Given the description of an element on the screen output the (x, y) to click on. 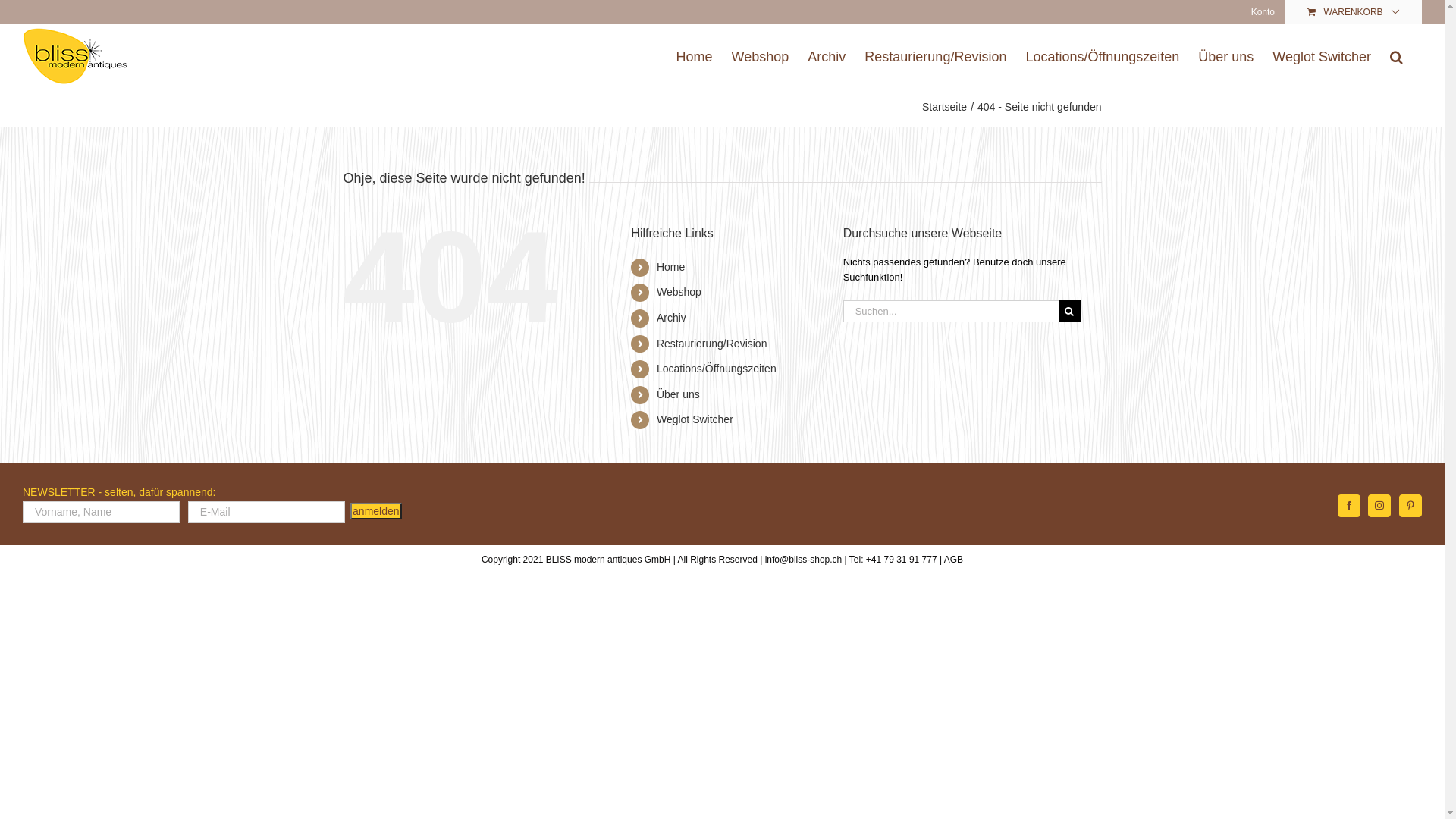
Weglot Switcher Element type: text (694, 419)
Webshop Element type: text (760, 56)
Konto Element type: text (1262, 12)
Restaurierung/Revision Element type: text (711, 343)
AGB Element type: text (953, 559)
Archiv Element type: text (826, 56)
Weglot Switcher Element type: text (1321, 56)
Archiv Element type: text (671, 317)
Webshop Element type: text (678, 291)
anmelden Element type: text (375, 510)
Suche Element type: hover (1396, 56)
WARENKORB Element type: text (1353, 12)
Startseite Element type: text (944, 106)
Home Element type: text (670, 266)
info@bliss-shop.ch Element type: text (803, 559)
Home Element type: text (694, 56)
Restaurierung/Revision Element type: text (935, 56)
